Given the description of an element on the screen output the (x, y) to click on. 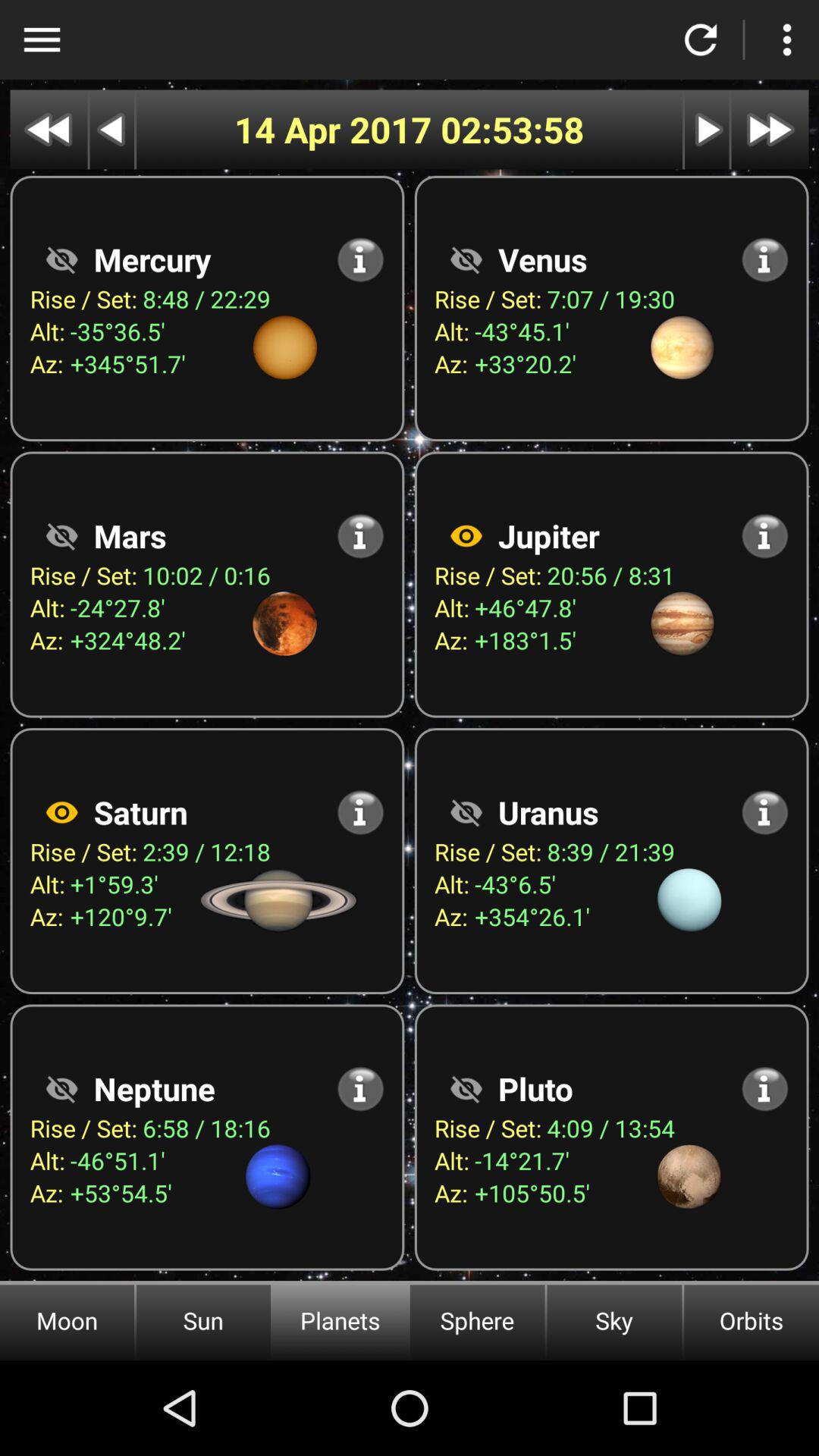
go back to beginning (48, 129)
